Given the description of an element on the screen output the (x, y) to click on. 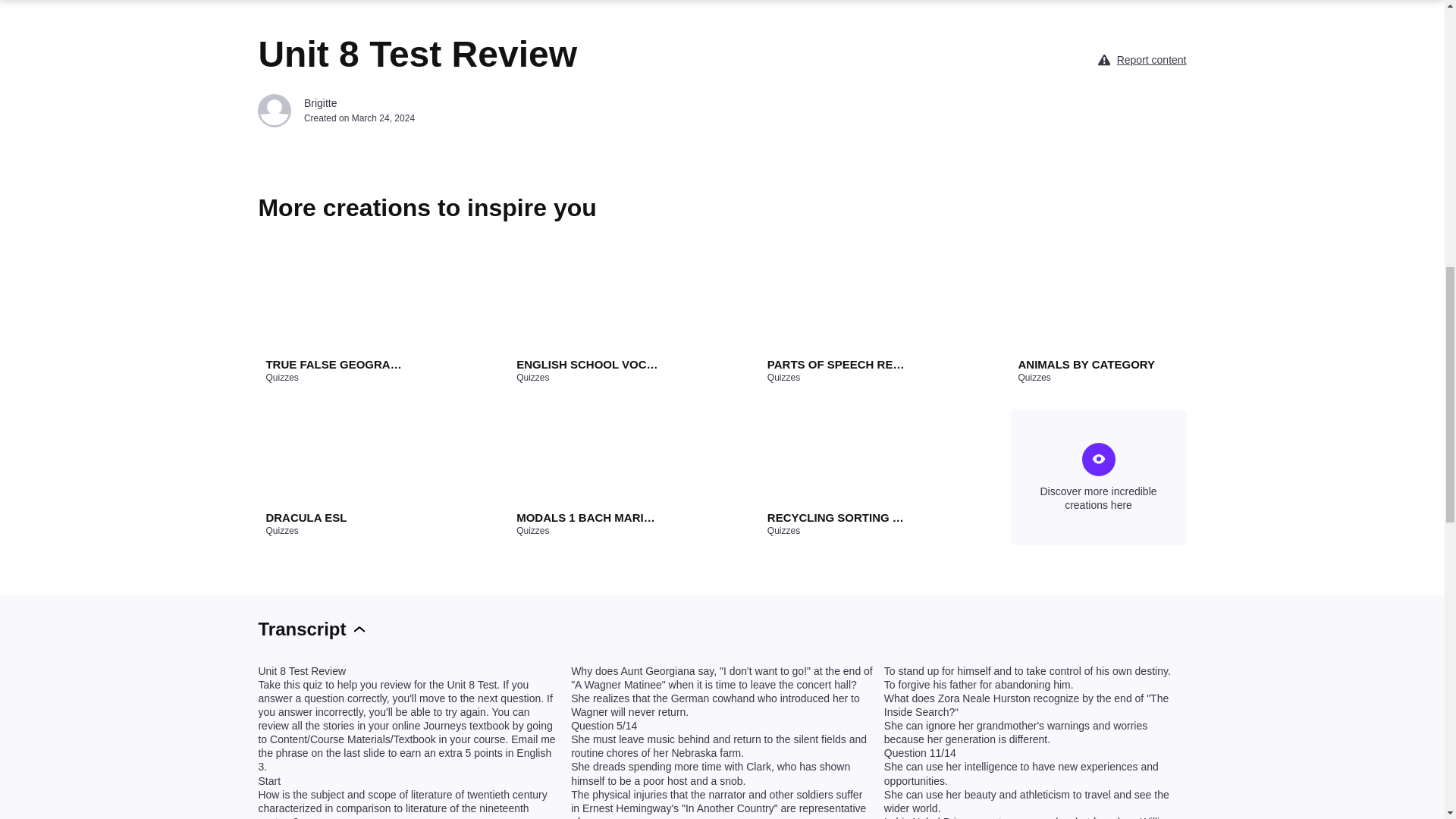
TRUE FALSE GEOGRAPHY (335, 364)
DRACULA ESL (335, 517)
RECYCLING SORTING GAME (838, 517)
Report content (1151, 59)
Discover more incredible creations here (1098, 476)
ANIMALS BY CATEGORY (1088, 364)
MODALS 1 BACH MARIO GAME (587, 517)
PARTS OF SPEECH REVIEW (838, 364)
ENGLISH SCHOOL VOCABULARY (587, 364)
